Given the description of an element on the screen output the (x, y) to click on. 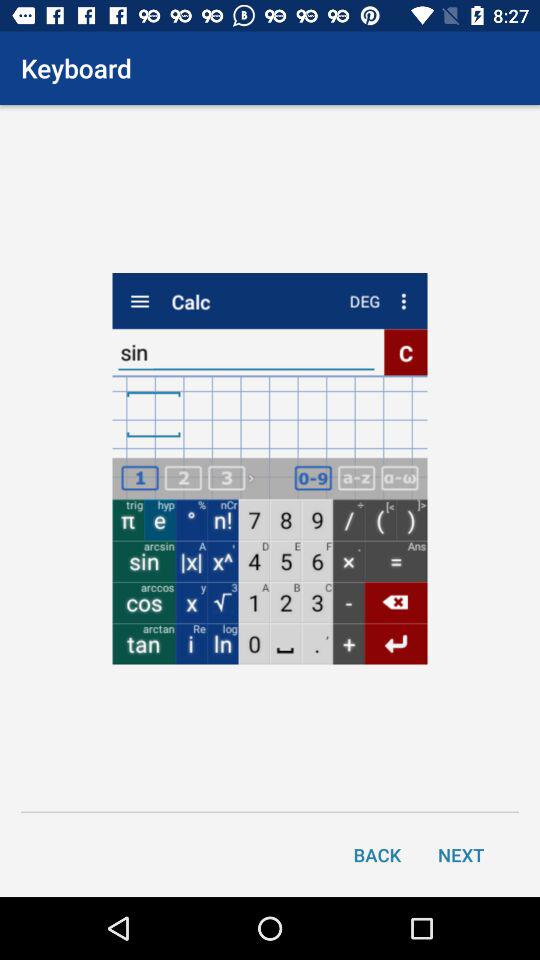
select the item next to next icon (377, 854)
